Given the description of an element on the screen output the (x, y) to click on. 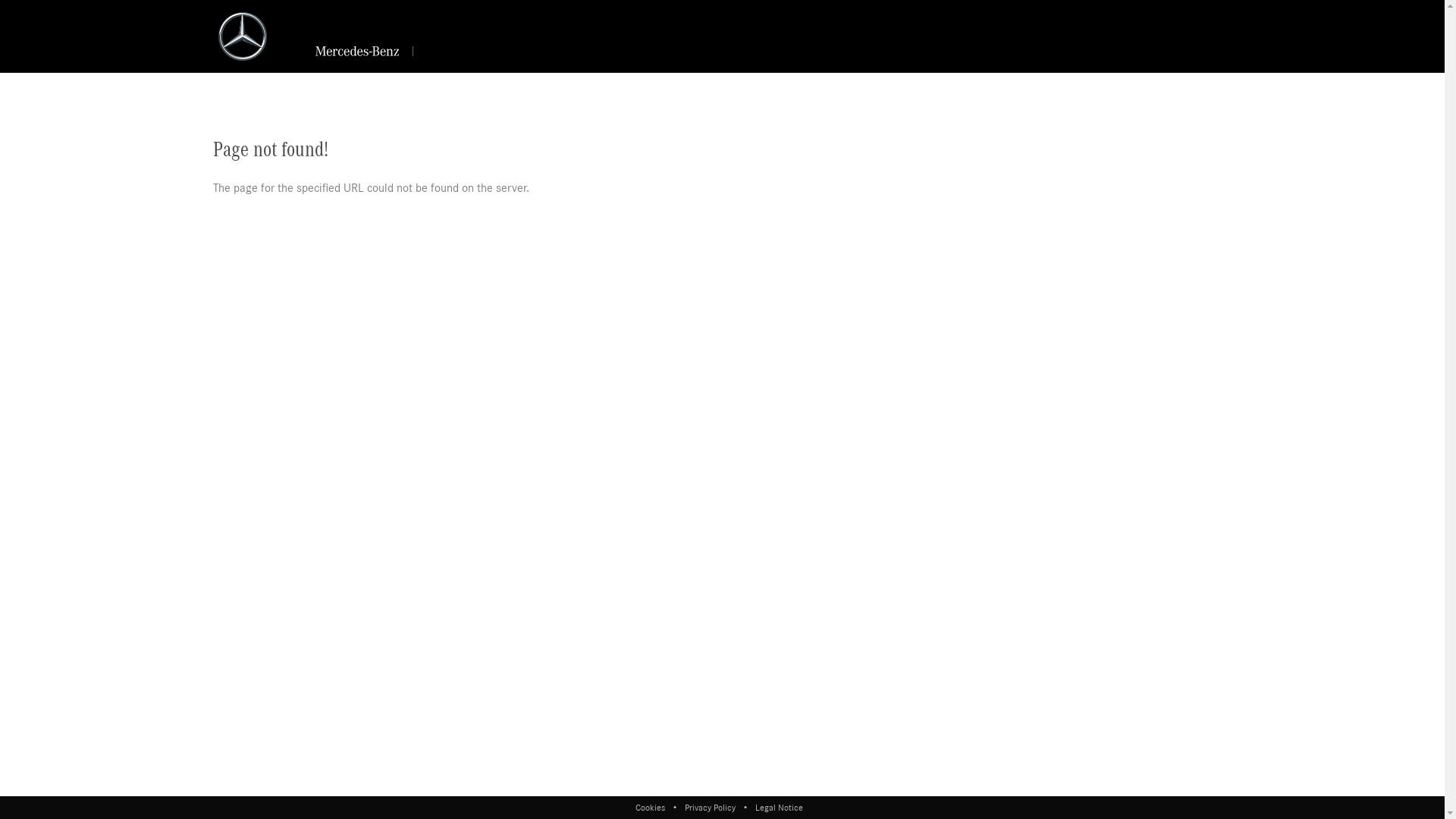
Cookies Element type: text (653, 807)
Legal Notice Element type: text (778, 807)
Privacy Policy Element type: text (709, 807)
